Given the description of an element on the screen output the (x, y) to click on. 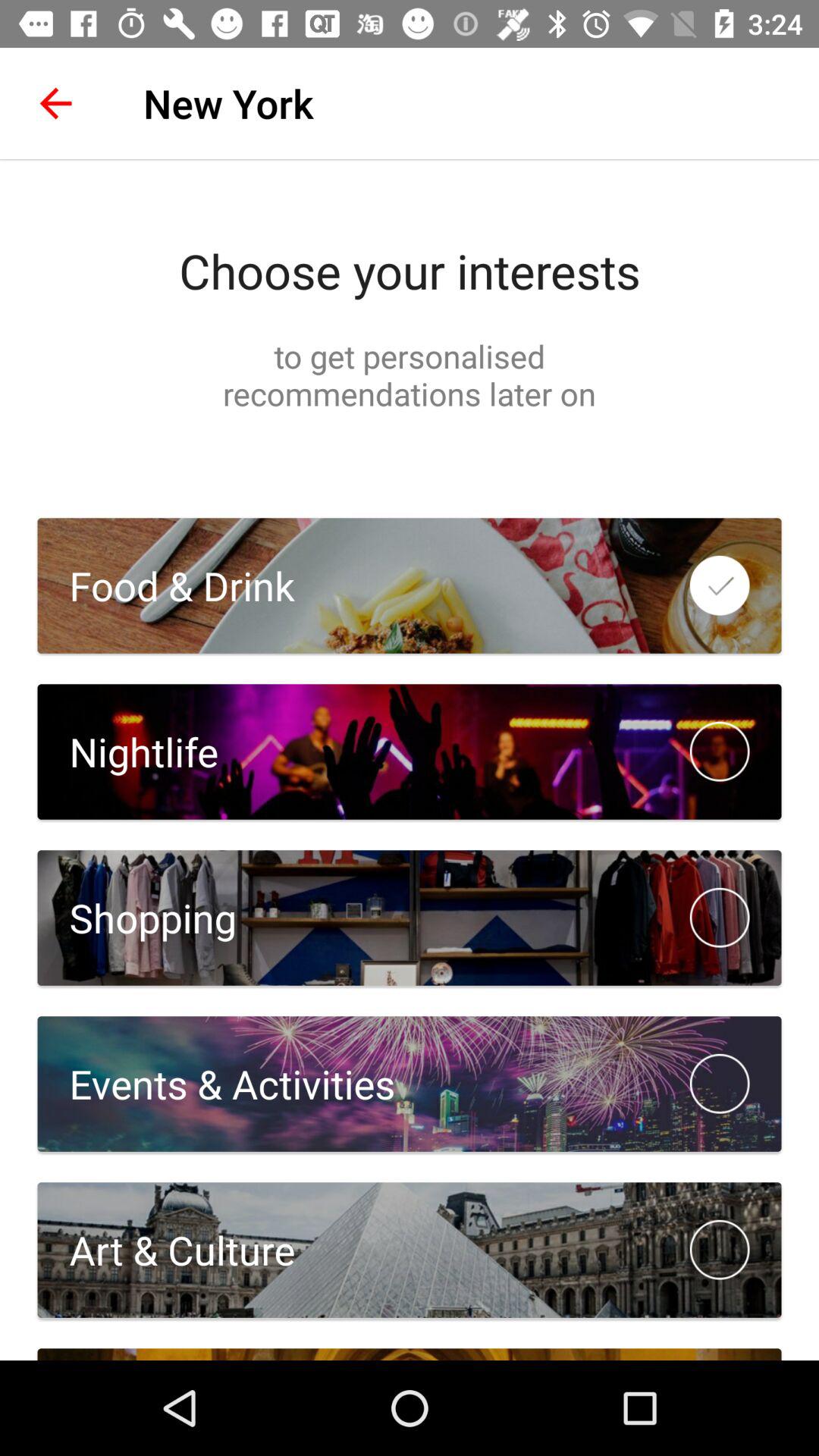
turn off nightlife icon (127, 751)
